Given the description of an element on the screen output the (x, y) to click on. 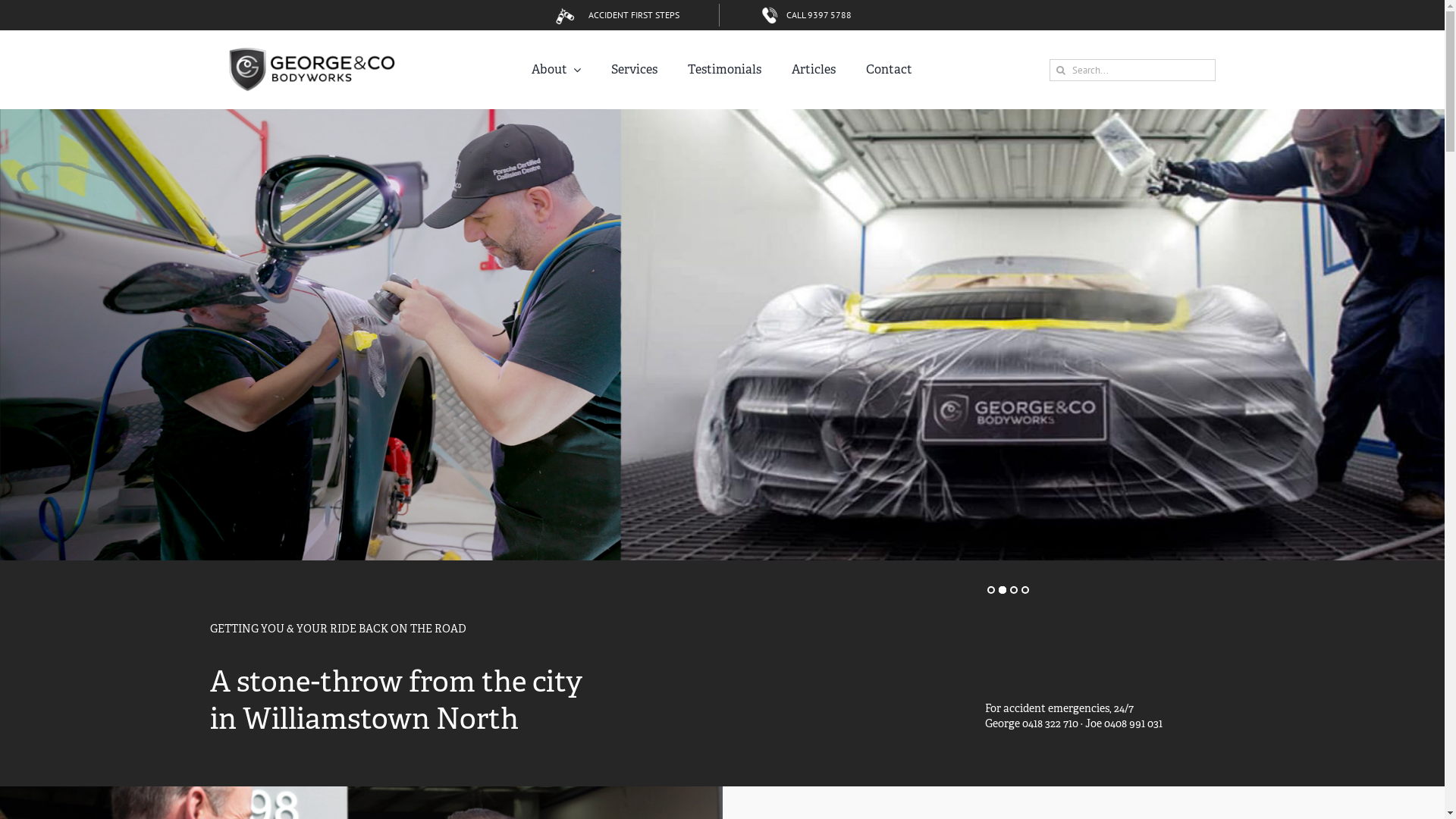
icons-2 Element type: hover (770, 14)
About Element type: text (556, 69)
Testimonials Element type: text (724, 69)
Contact Element type: text (888, 69)
icons-3 Element type: hover (565, 14)
Services Element type: text (634, 69)
Articles Element type: text (813, 69)
